Given the description of an element on the screen output the (x, y) to click on. 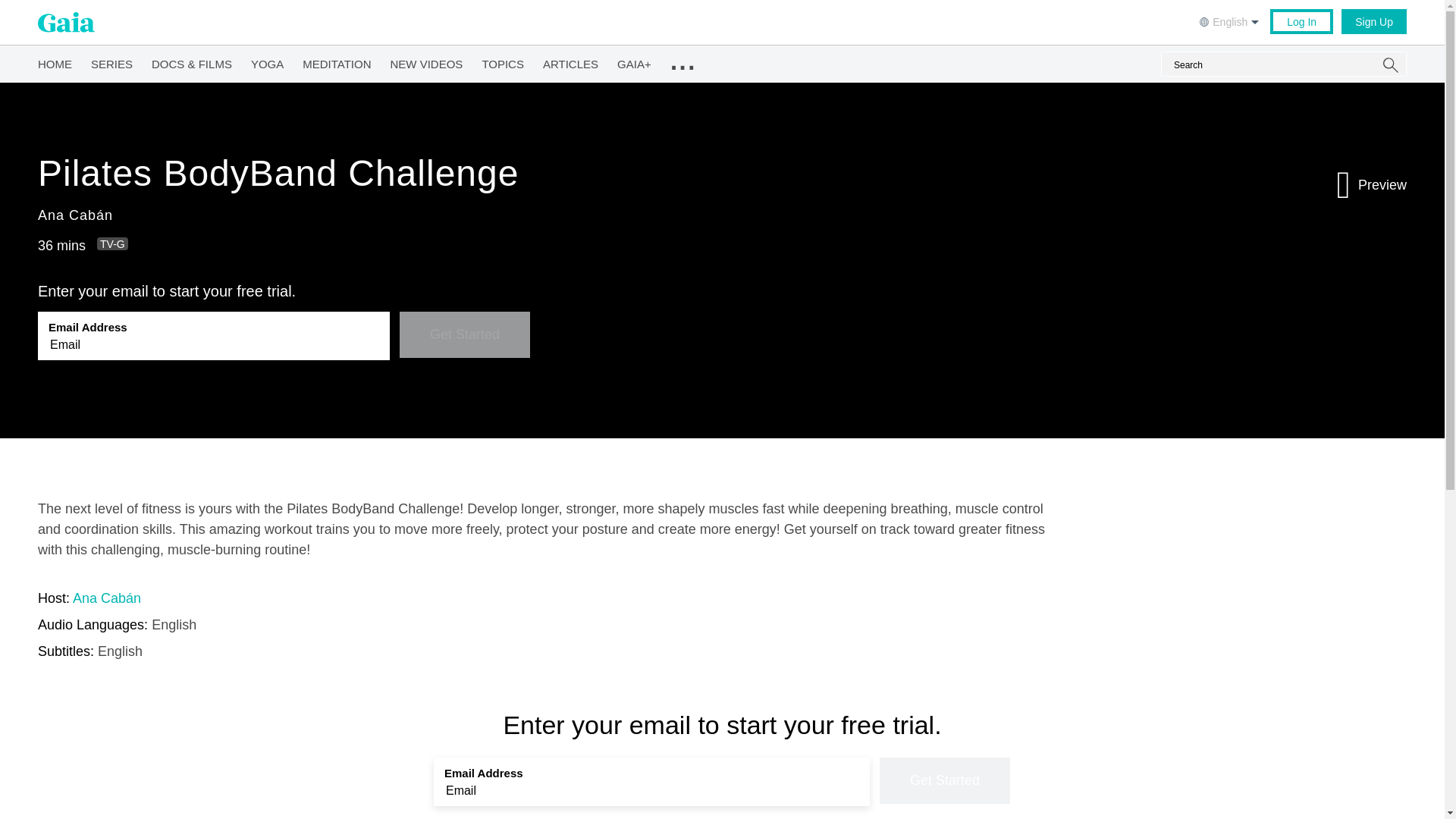
TOPICS (502, 61)
NEW VIDEOS (426, 61)
Sign Up (1373, 21)
English (1230, 20)
ARTICLES (570, 61)
YOGA (266, 61)
MEDITATION (336, 61)
HOME (54, 61)
Log In (1301, 21)
SERIES (111, 61)
